Given the description of an element on the screen output the (x, y) to click on. 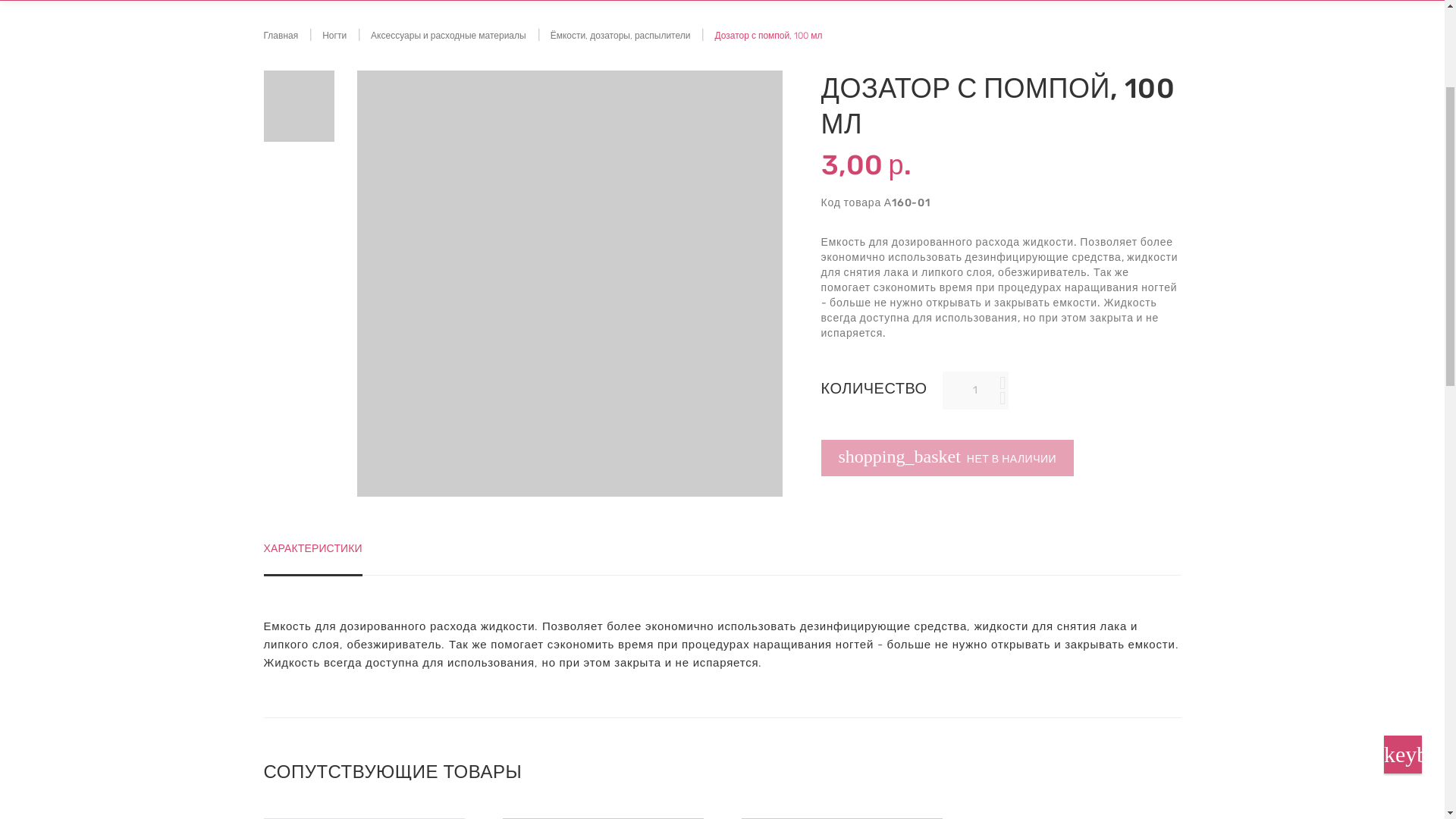
Nogotki  Element type: hover (325, 49)
